Given the description of an element on the screen output the (x, y) to click on. 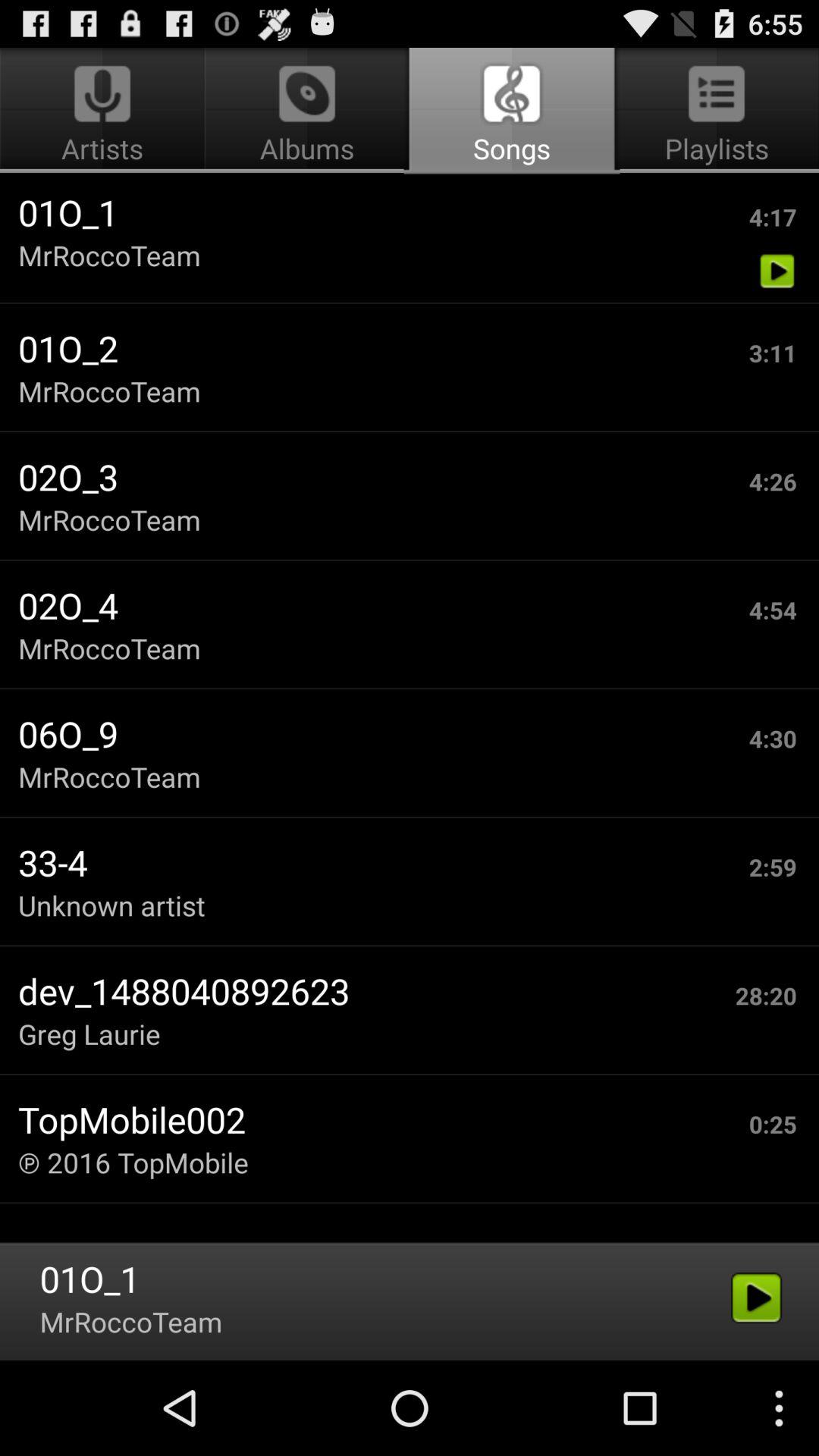
select icon to the right of artists icon (511, 111)
